Given the description of an element on the screen output the (x, y) to click on. 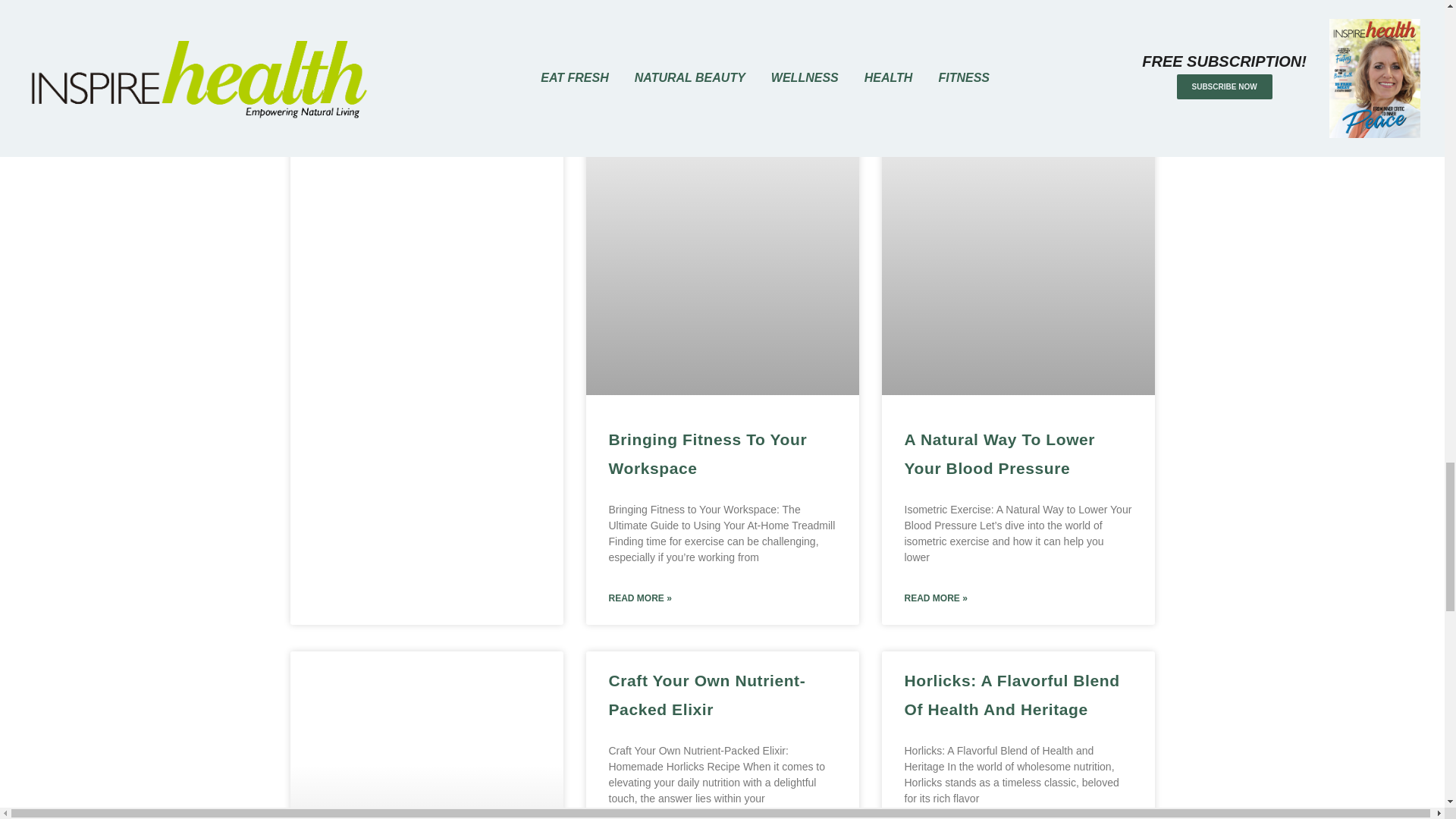
Bringing Fitness To Your Workspace (707, 453)
A Natural Way To Lower Your Blood Pressure (999, 453)
Craft Your Own Nutrient-Packed Elixir (706, 694)
Horlicks: A Flavorful Blend Of Health And Heritage (1011, 694)
Safeguarding Kids During This Scorching Summer (416, 4)
